Given the description of an element on the screen output the (x, y) to click on. 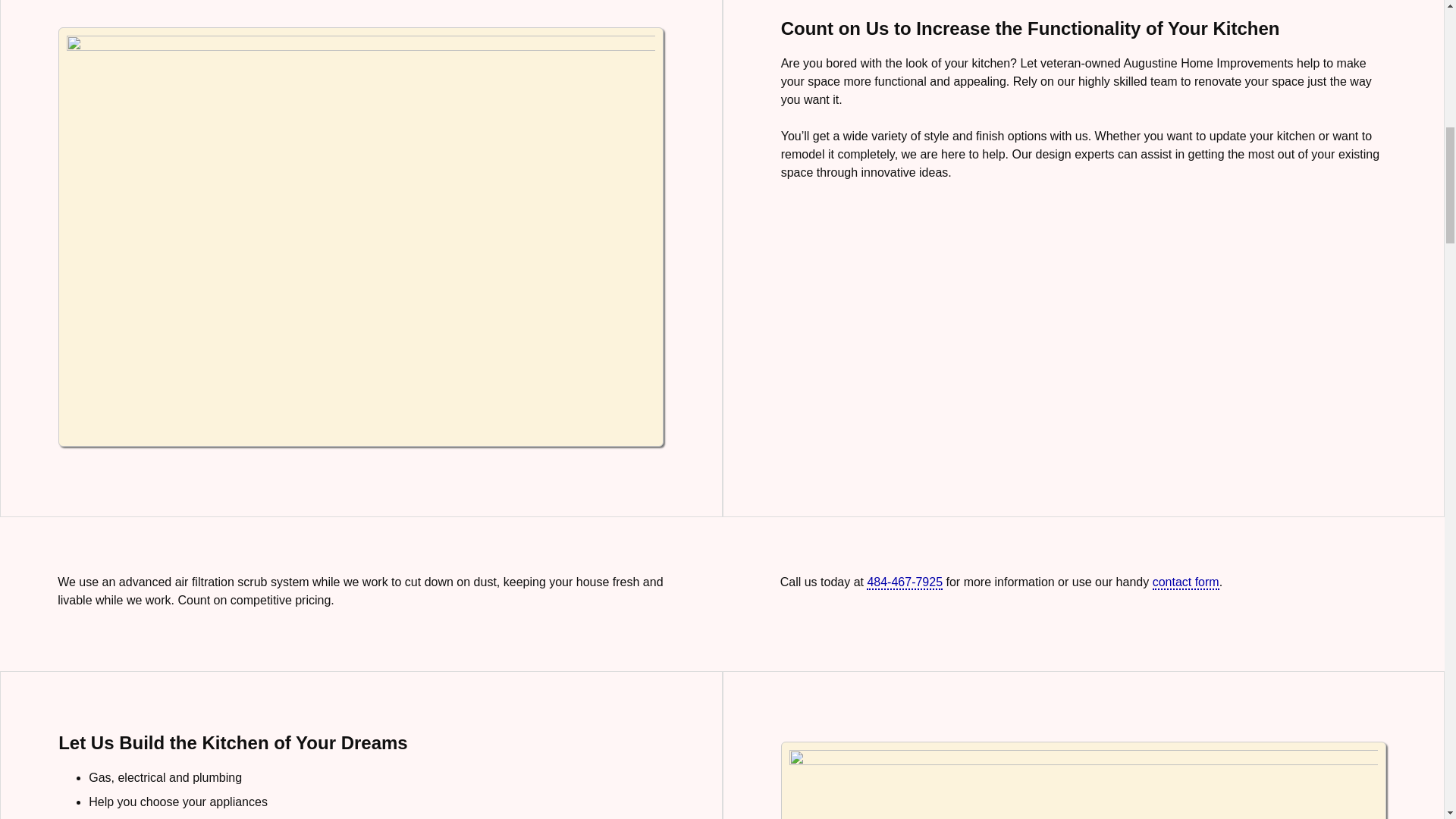
484-467-7925 (904, 581)
contact form (1186, 581)
